Given the description of an element on the screen output the (x, y) to click on. 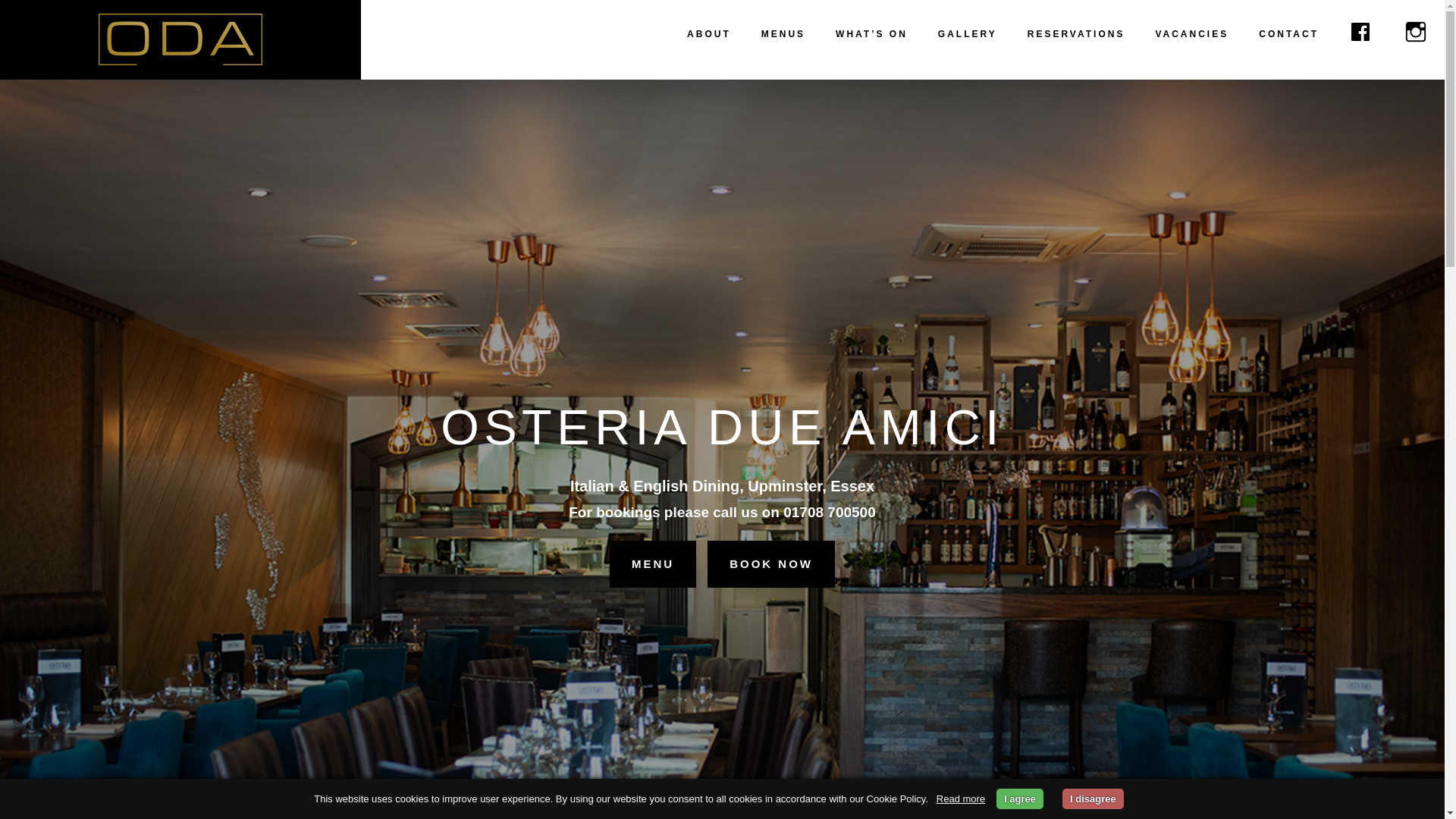
ABOUT (708, 34)
MENU (652, 564)
FACEBOOK (1361, 34)
CONTACT (1288, 34)
MENUS (783, 34)
VACANCIES (1191, 34)
Read more (960, 798)
BOOK NOW (770, 564)
RESERVATIONS (1075, 34)
Website Logo (180, 39)
GALLERY (967, 34)
